Given the description of an element on the screen output the (x, y) to click on. 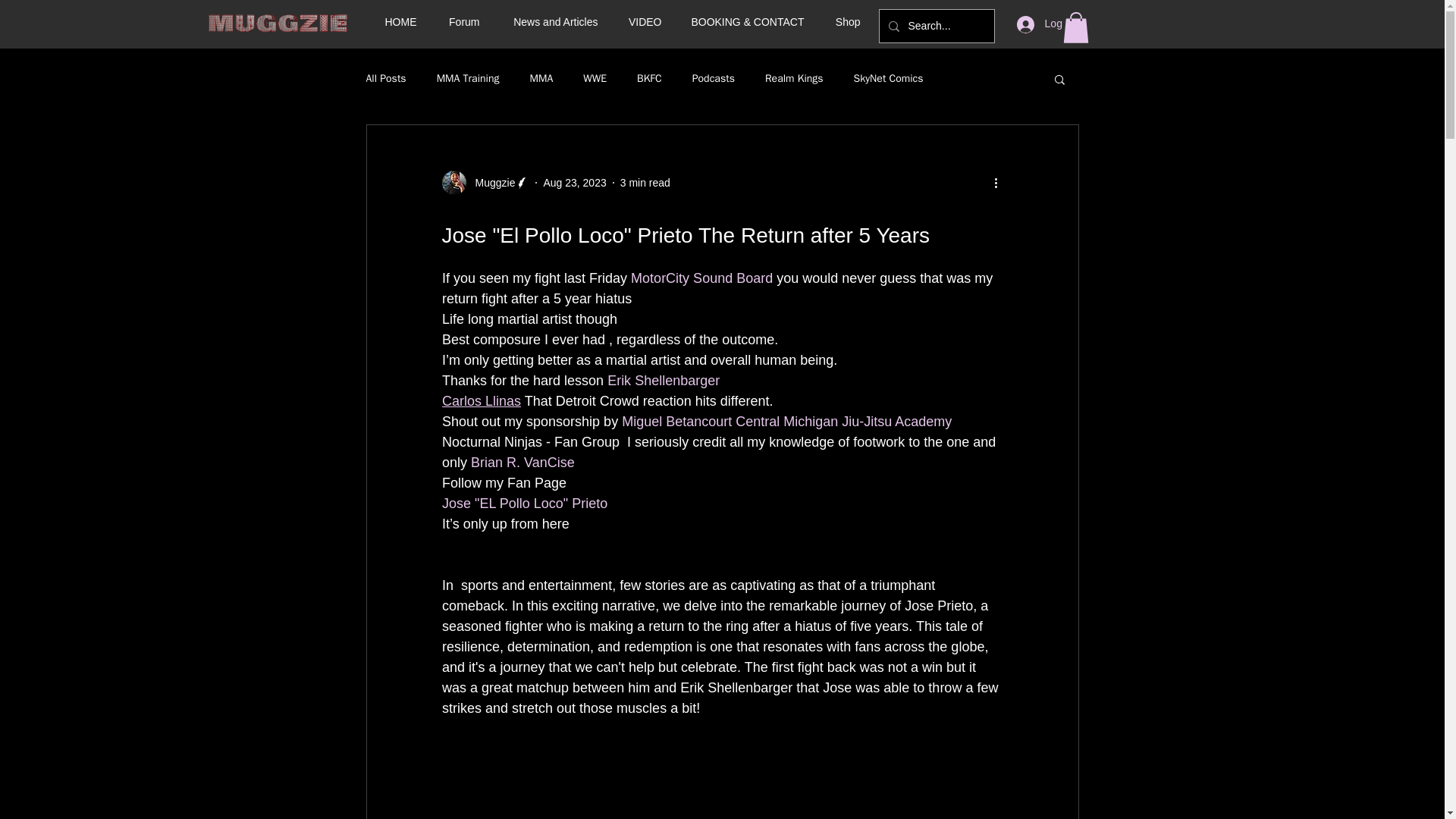
Erik Shellenbarger (663, 380)
Forum (459, 22)
Podcasts (714, 78)
SkyNet Comics (888, 78)
MMA Training (467, 78)
Central Michigan Jiu-Jitsu Academy (843, 421)
All Posts (385, 78)
VIDEO (641, 22)
3 min read (644, 182)
MotorCity Sound Board (701, 278)
